Given the description of an element on the screen output the (x, y) to click on. 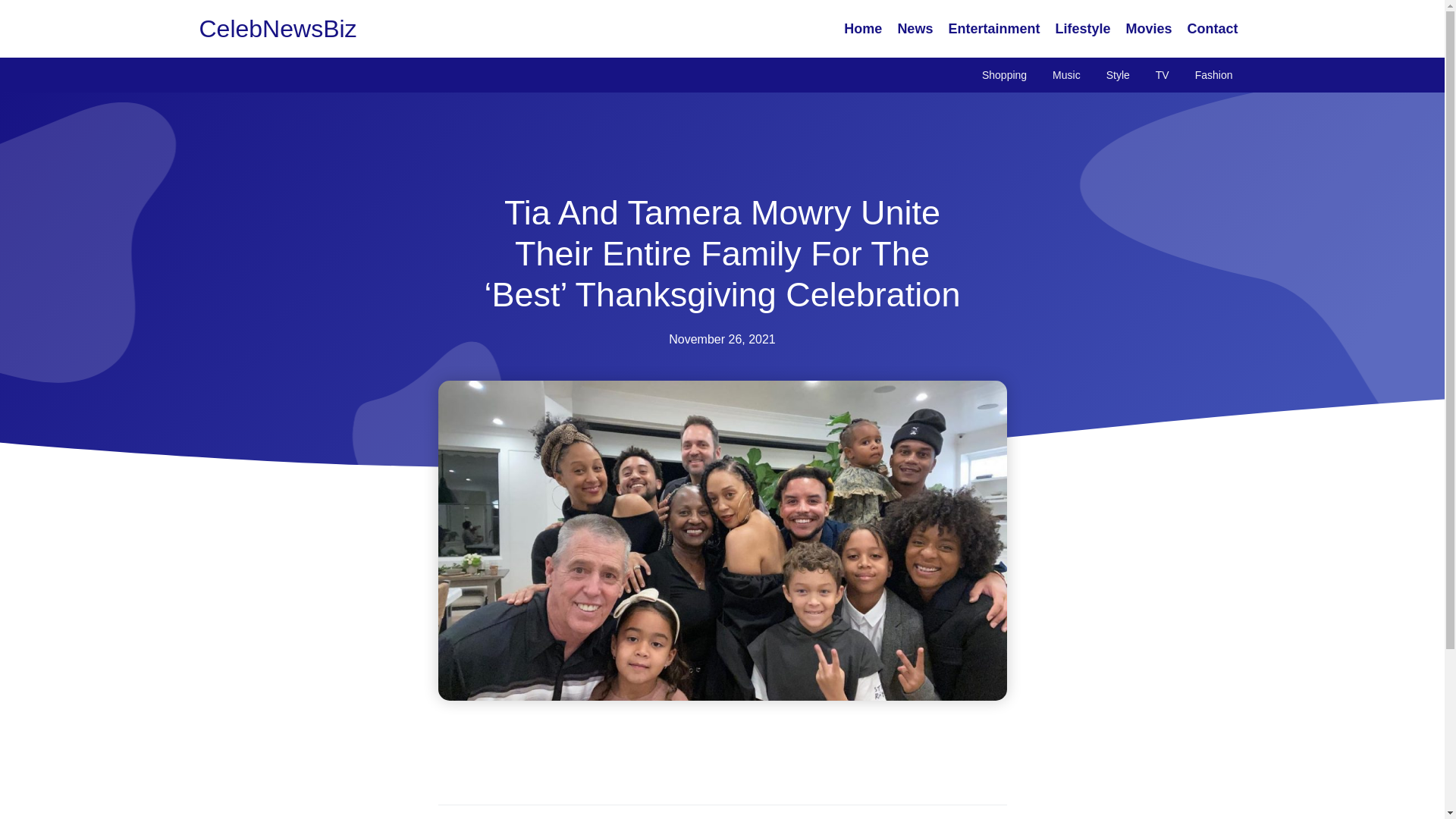
Movies (1148, 28)
CelebNewsBiz (277, 28)
News (914, 28)
Entertainment (993, 28)
Contact (1212, 28)
Lifestyle (1082, 28)
Home (862, 28)
